Given the description of an element on the screen output the (x, y) to click on. 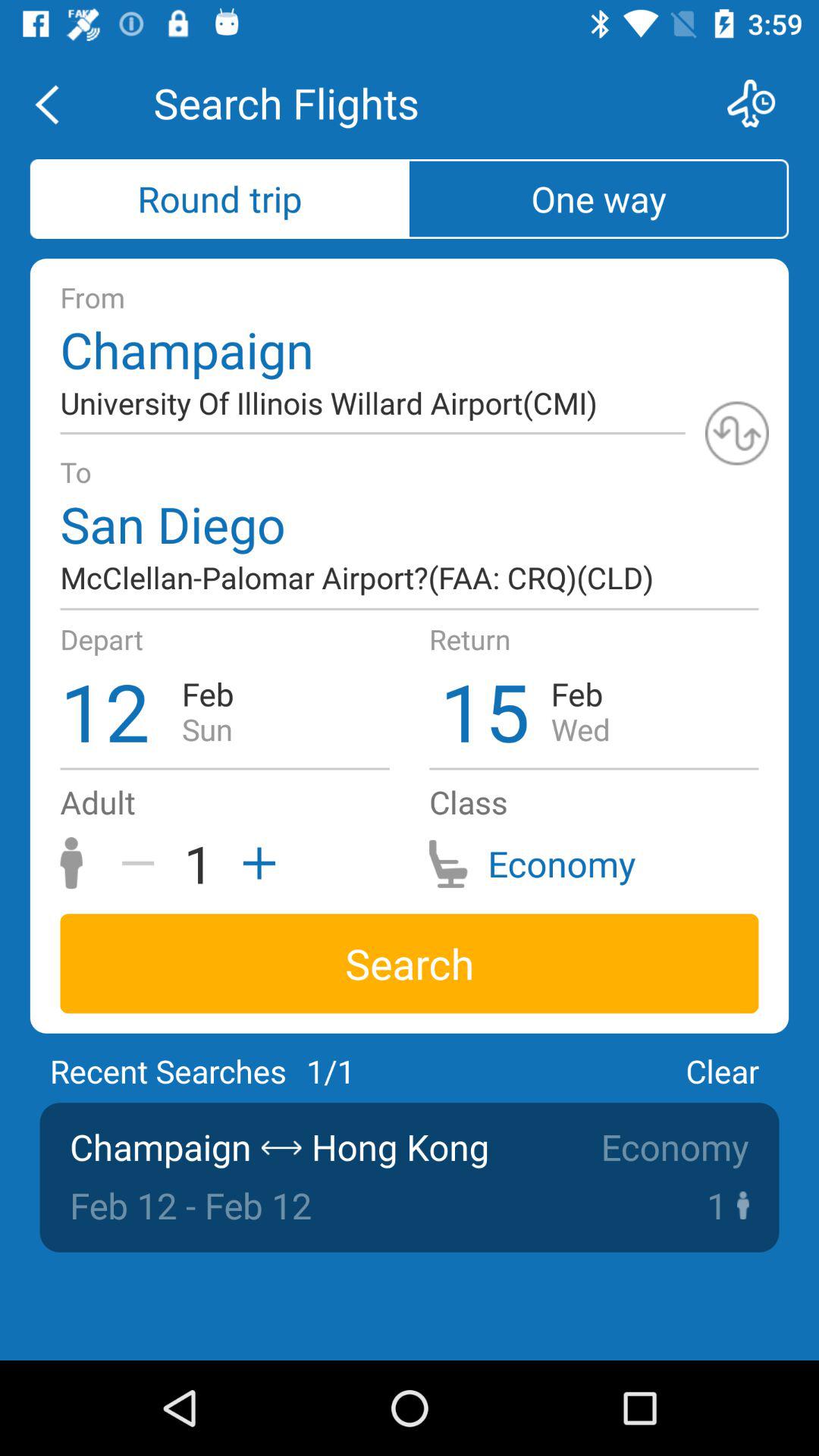
launch the icon below adult item (143, 863)
